Given the description of an element on the screen output the (x, y) to click on. 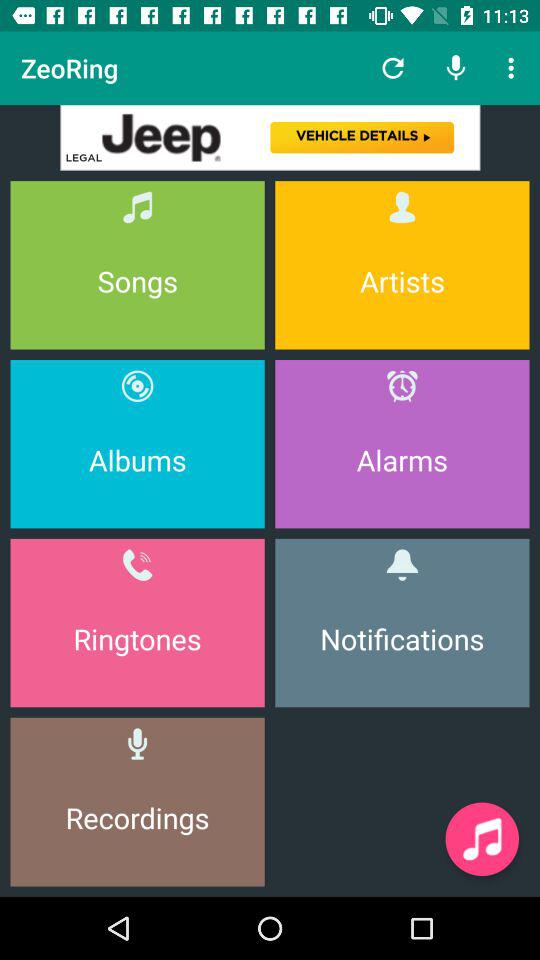
click the button below alarms (401, 622)
click the icon beside refresh button (456, 68)
click on the refresh icon on the top of the web page (392, 68)
click on the 3 vertical dots at the top right corner of the page (514, 68)
